Given the description of an element on the screen output the (x, y) to click on. 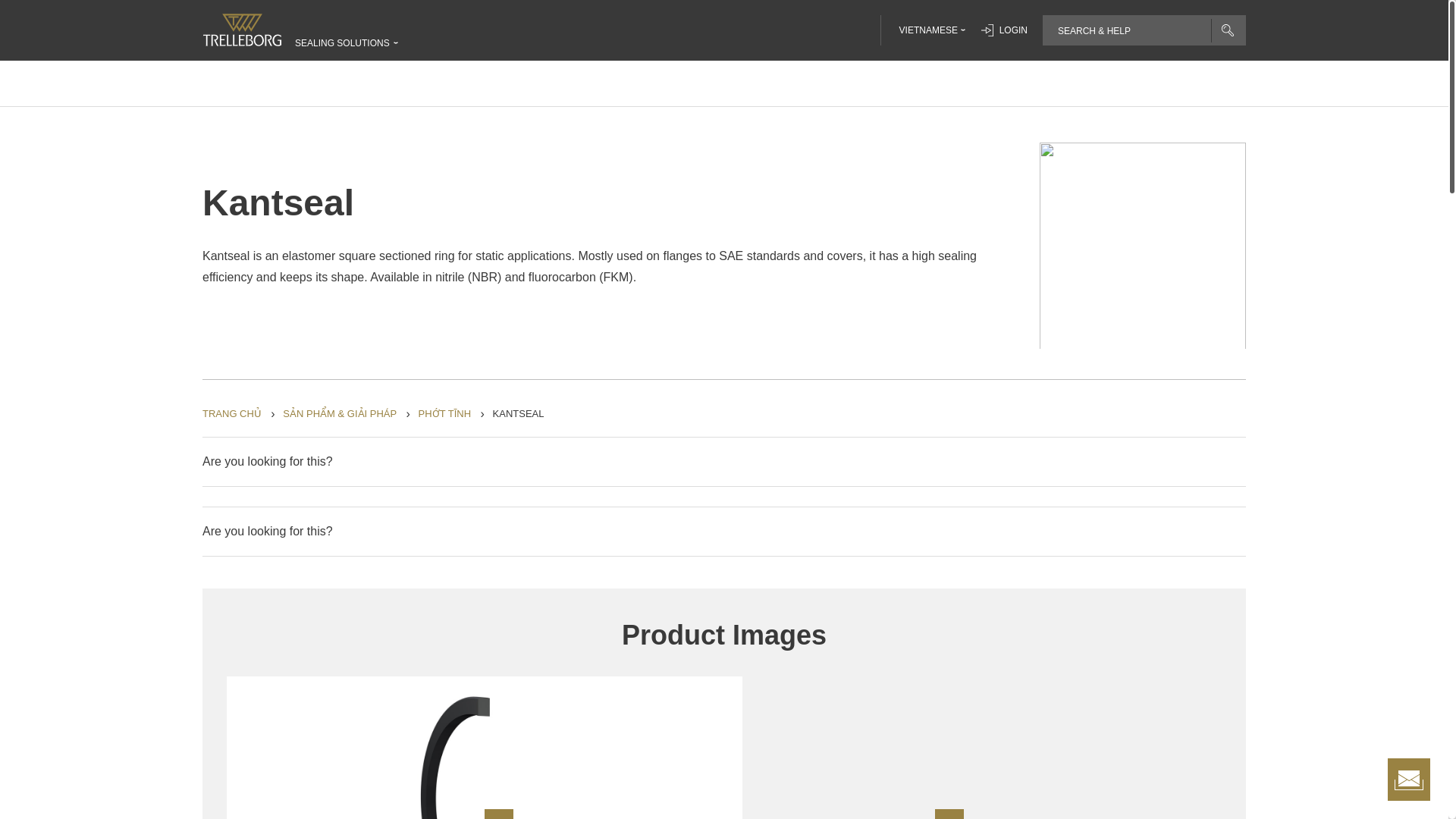
Kantseal (518, 414)
SEALING SOLUTIONS (342, 42)
Home (232, 414)
LOGIN (1004, 29)
Static Seals (444, 414)
Products and Solutions (339, 414)
